Given the description of an element on the screen output the (x, y) to click on. 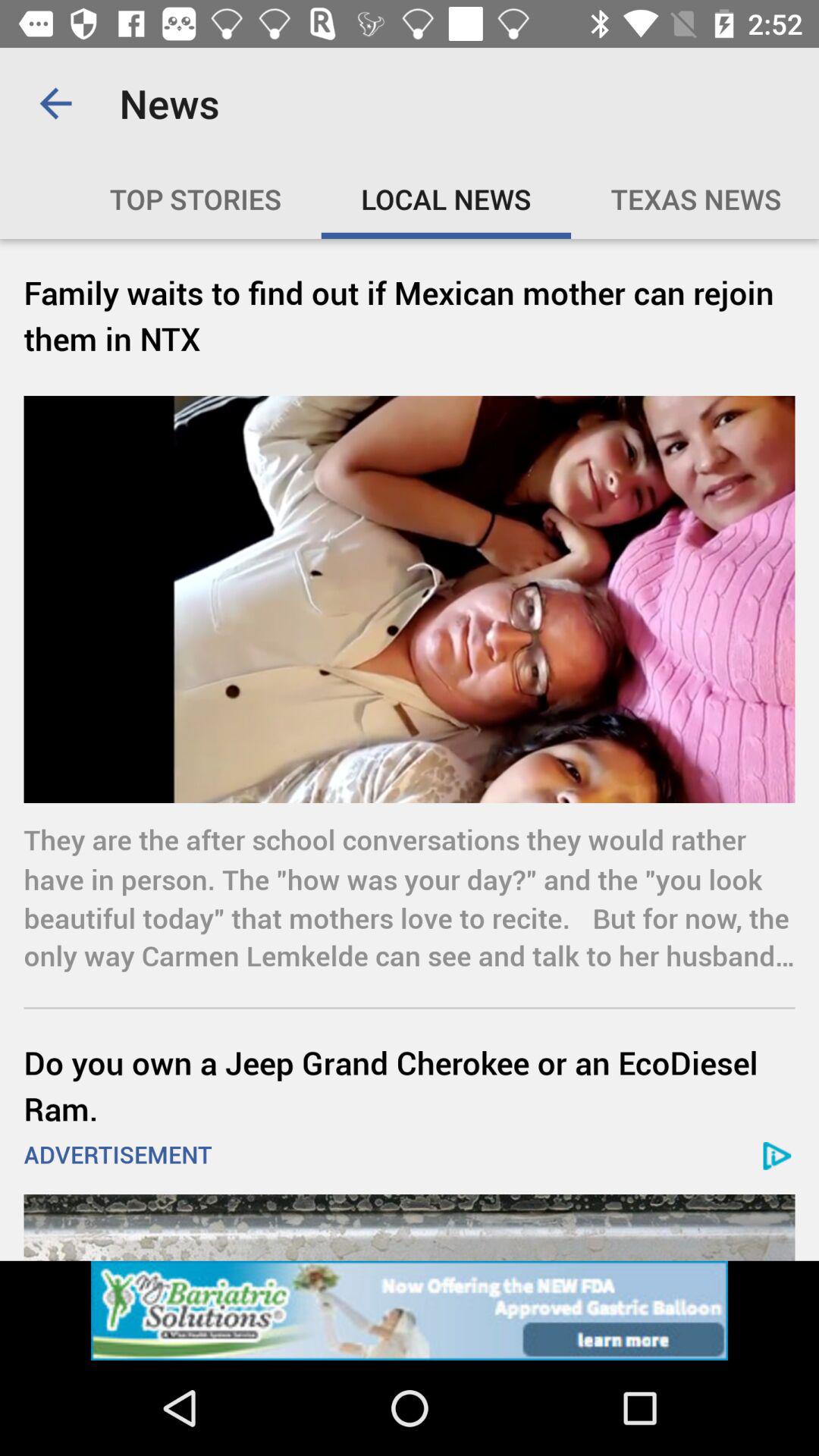
advertisement (409, 1227)
